Given the description of an element on the screen output the (x, y) to click on. 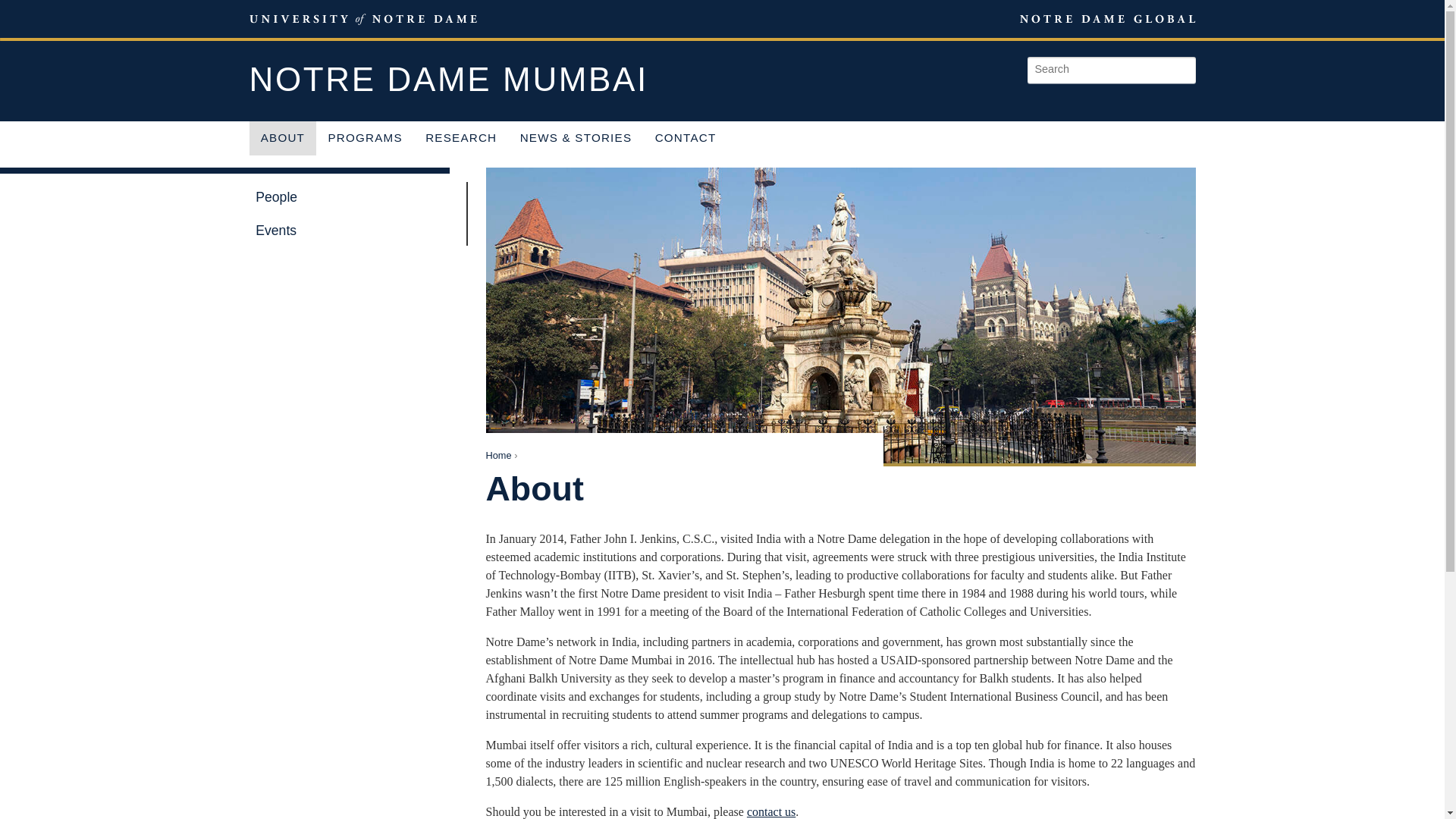
Home (497, 455)
University Notre Dame (362, 18)
NOTRE DAME MUMBAI (447, 80)
PROGRAMS (364, 138)
ABOUT (281, 138)
contact us (770, 811)
Events (350, 230)
People (350, 196)
CONTACT (684, 138)
Notre Dame Global (1072, 18)
RESEARCH (460, 138)
